Given the description of an element on the screen output the (x, y) to click on. 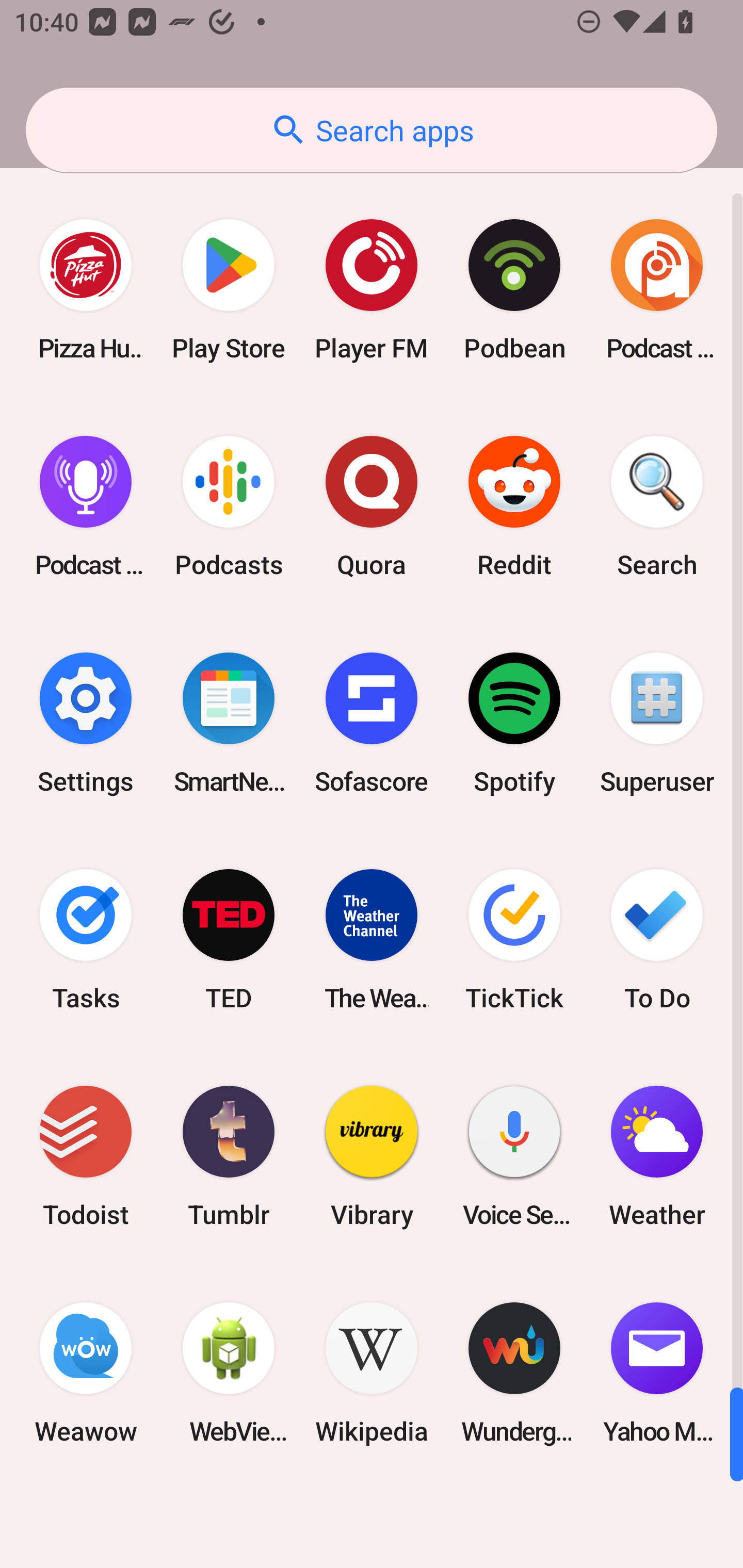
  Search apps (371, 130)
Pizza Hut HK & Macau (85, 289)
Play Store (228, 289)
Player FM (371, 289)
Podbean (514, 289)
Podcast Addict (656, 289)
Podcast Player (85, 506)
Podcasts (228, 506)
Quora (371, 506)
Reddit (514, 506)
Search (656, 506)
Settings (85, 722)
SmartNews (228, 722)
Sofascore (371, 722)
Spotify (514, 722)
Superuser (656, 722)
Tasks (85, 939)
TED (228, 939)
The Weather Channel (371, 939)
TickTick (514, 939)
To Do (656, 939)
Todoist (85, 1156)
Tumblr (228, 1156)
Vibrary (371, 1156)
Voice Search (514, 1156)
Weather (656, 1156)
Weawow (85, 1373)
WebView Browser Tester (228, 1373)
Wikipedia (371, 1373)
Wunderground (514, 1373)
Yahoo Mail (656, 1373)
